Given the description of an element on the screen output the (x, y) to click on. 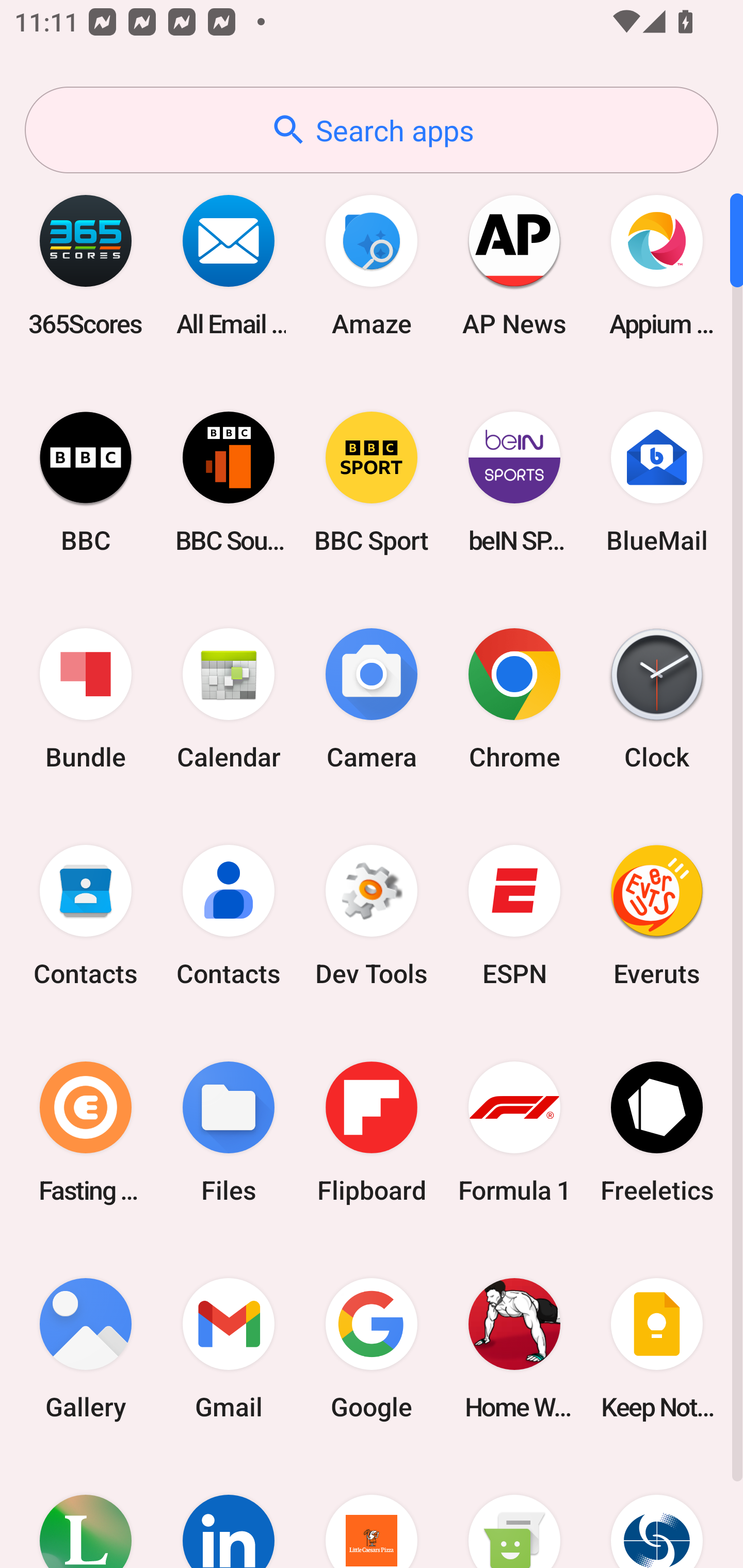
  Search apps (371, 130)
365Scores (85, 264)
All Email Connect (228, 264)
Amaze (371, 264)
AP News (514, 264)
Appium Settings (656, 264)
BBC (85, 482)
BBC Sounds (228, 482)
BBC Sport (371, 482)
beIN SPORTS (514, 482)
BlueMail (656, 482)
Bundle (85, 699)
Calendar (228, 699)
Camera (371, 699)
Chrome (514, 699)
Clock (656, 699)
Contacts (85, 915)
Contacts (228, 915)
Dev Tools (371, 915)
ESPN (514, 915)
Everuts (656, 915)
Fasting Coach (85, 1131)
Files (228, 1131)
Flipboard (371, 1131)
Formula 1 (514, 1131)
Freeletics (656, 1131)
Gallery (85, 1348)
Gmail (228, 1348)
Google (371, 1348)
Home Workout (514, 1348)
Keep Notes (656, 1348)
Lifesum (85, 1512)
LinkedIn (228, 1512)
Little Caesars Pizza (371, 1512)
Messaging (514, 1512)
MyObservatory (656, 1512)
